Given the description of an element on the screen output the (x, y) to click on. 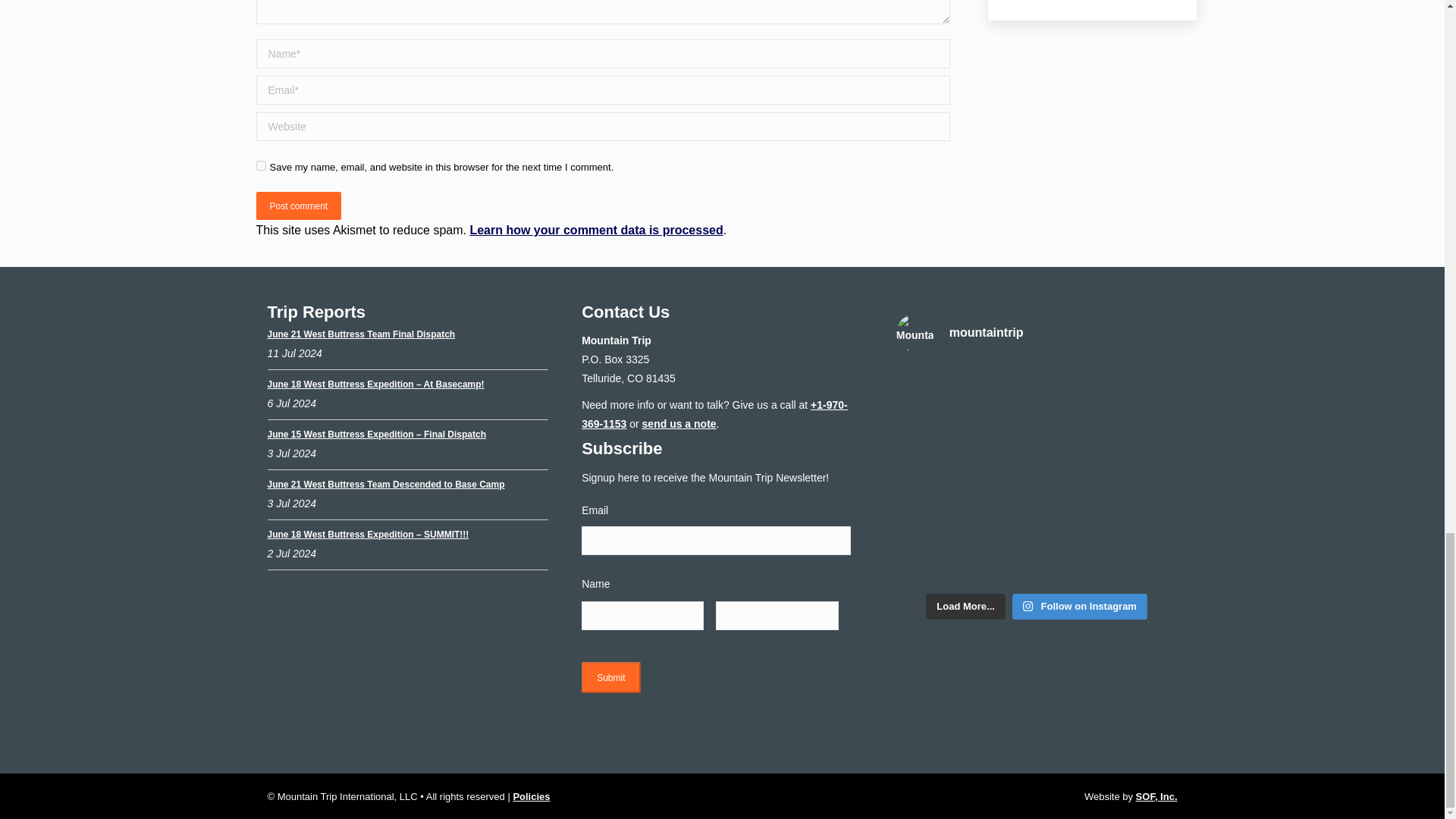
Submit (610, 676)
Permanent link to June 21 West Buttress Team Final Dispatch (360, 334)
yes (261, 165)
